Given the description of an element on the screen output the (x, y) to click on. 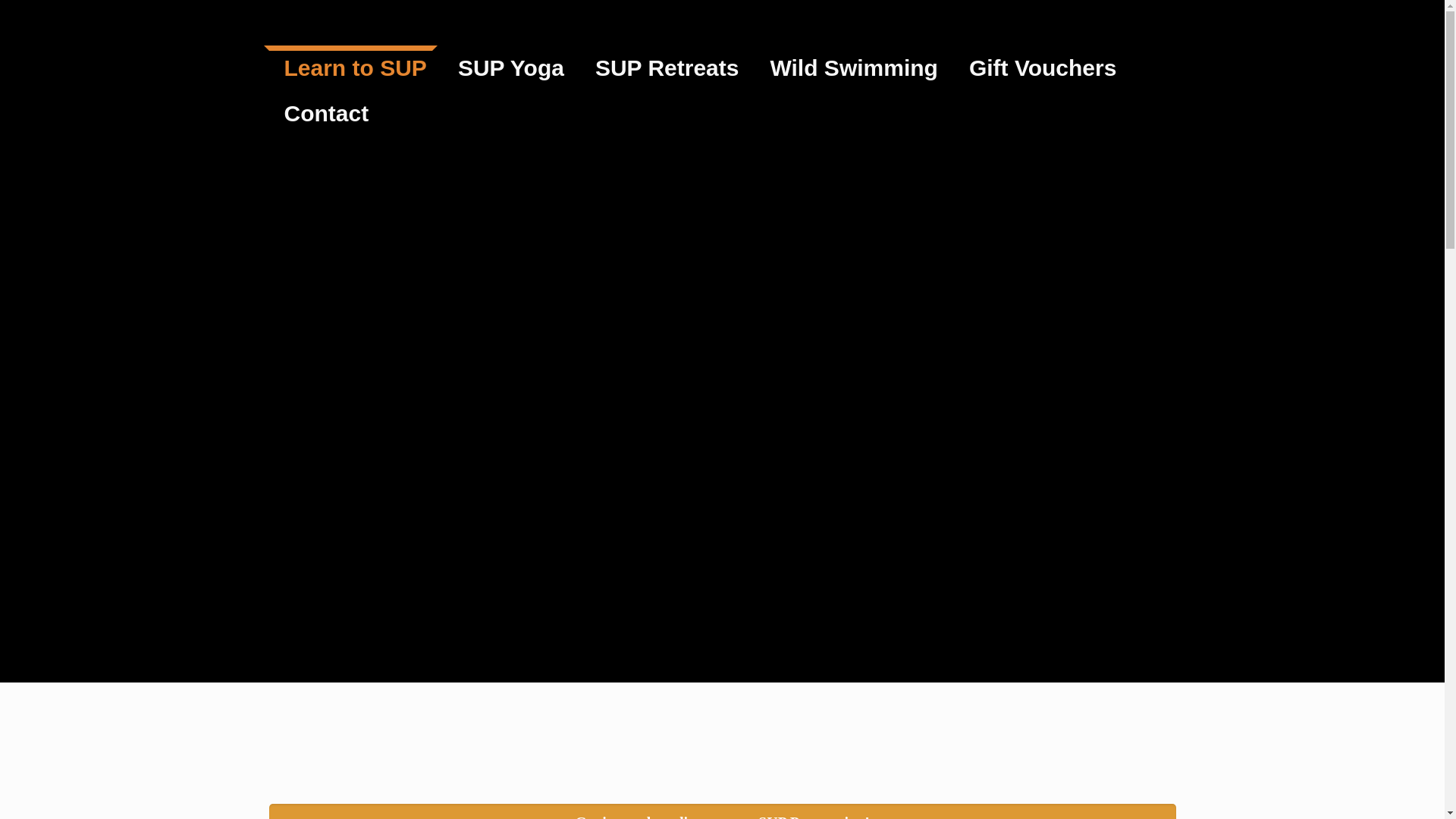
Wild Swimming (853, 67)
SUP Retreats (667, 67)
Contact (325, 113)
SUP Yoga (510, 67)
Gift Vouchers (1042, 67)
Learn to SUP (354, 67)
